Given the description of an element on the screen output the (x, y) to click on. 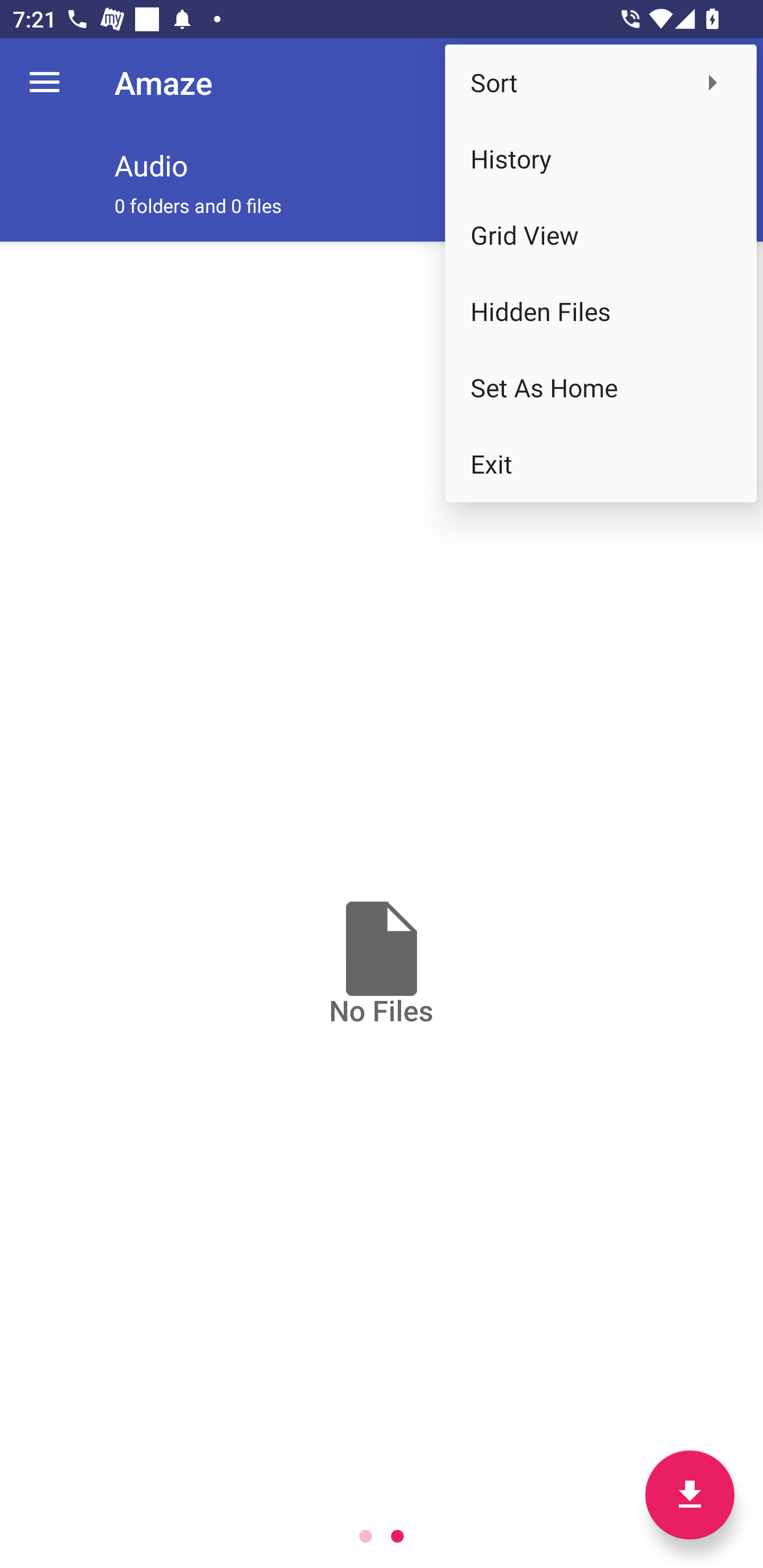
Sort (600, 81)
History (600, 158)
Grid View (600, 234)
Hidden Files (600, 310)
Set As Home (600, 387)
Exit (600, 463)
